Given the description of an element on the screen output the (x, y) to click on. 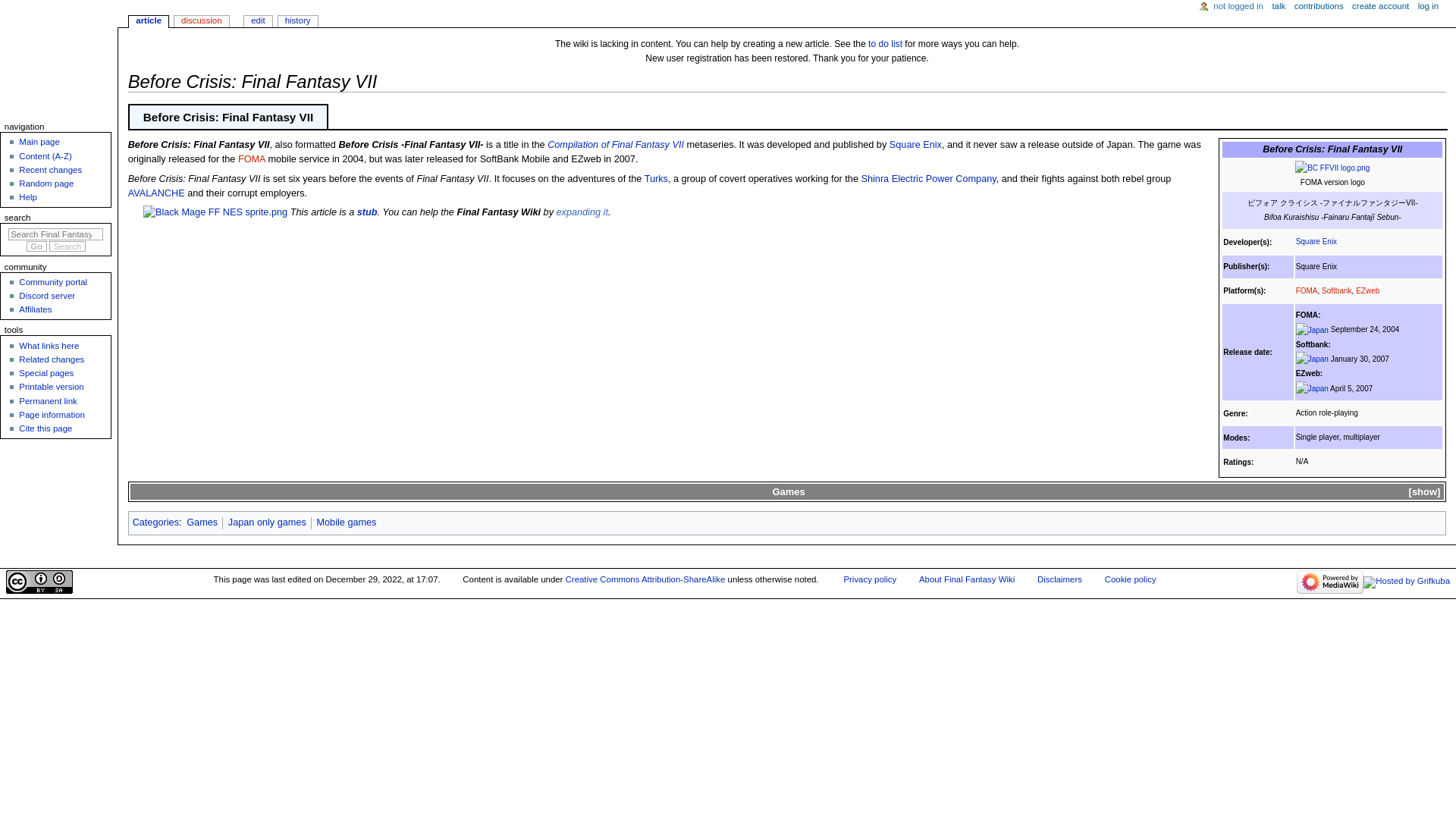
AVALANCHE (156, 193)
Square Enix (915, 144)
FOMA (1306, 290)
Turks (656, 178)
EZweb (1366, 290)
Japan (1311, 329)
Final Fantasy Wiki:Stub (366, 212)
Search (66, 245)
expanding it (582, 212)
